Given the description of an element on the screen output the (x, y) to click on. 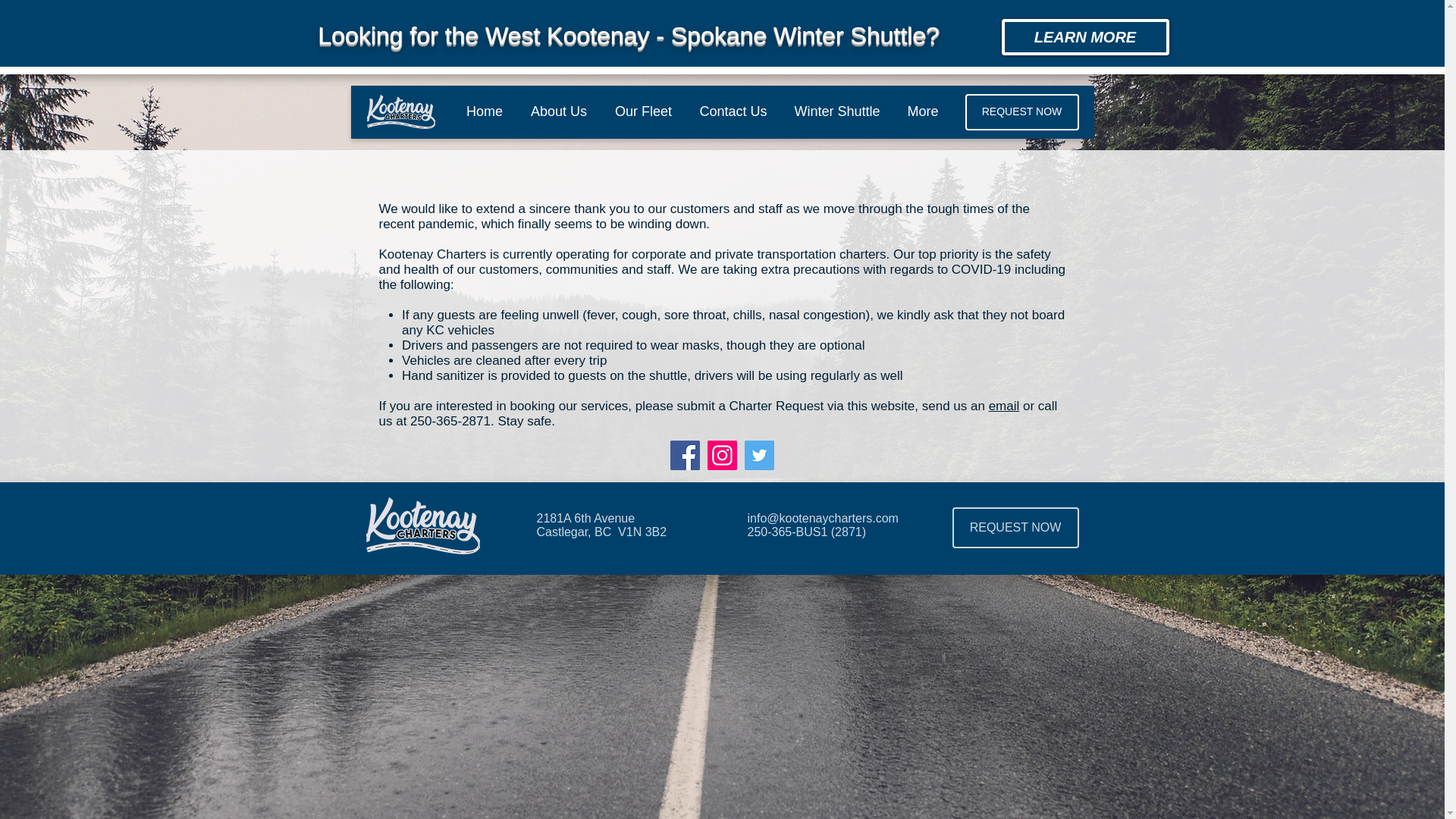
REQUEST NOW (1015, 526)
Home (483, 111)
Our Fleet (642, 111)
Contact Us (732, 111)
REQUEST NOW (1020, 112)
LEARN MORE (1085, 36)
email (1004, 405)
Winter Shuttle (836, 111)
About Us (558, 111)
